Given the description of an element on the screen output the (x, y) to click on. 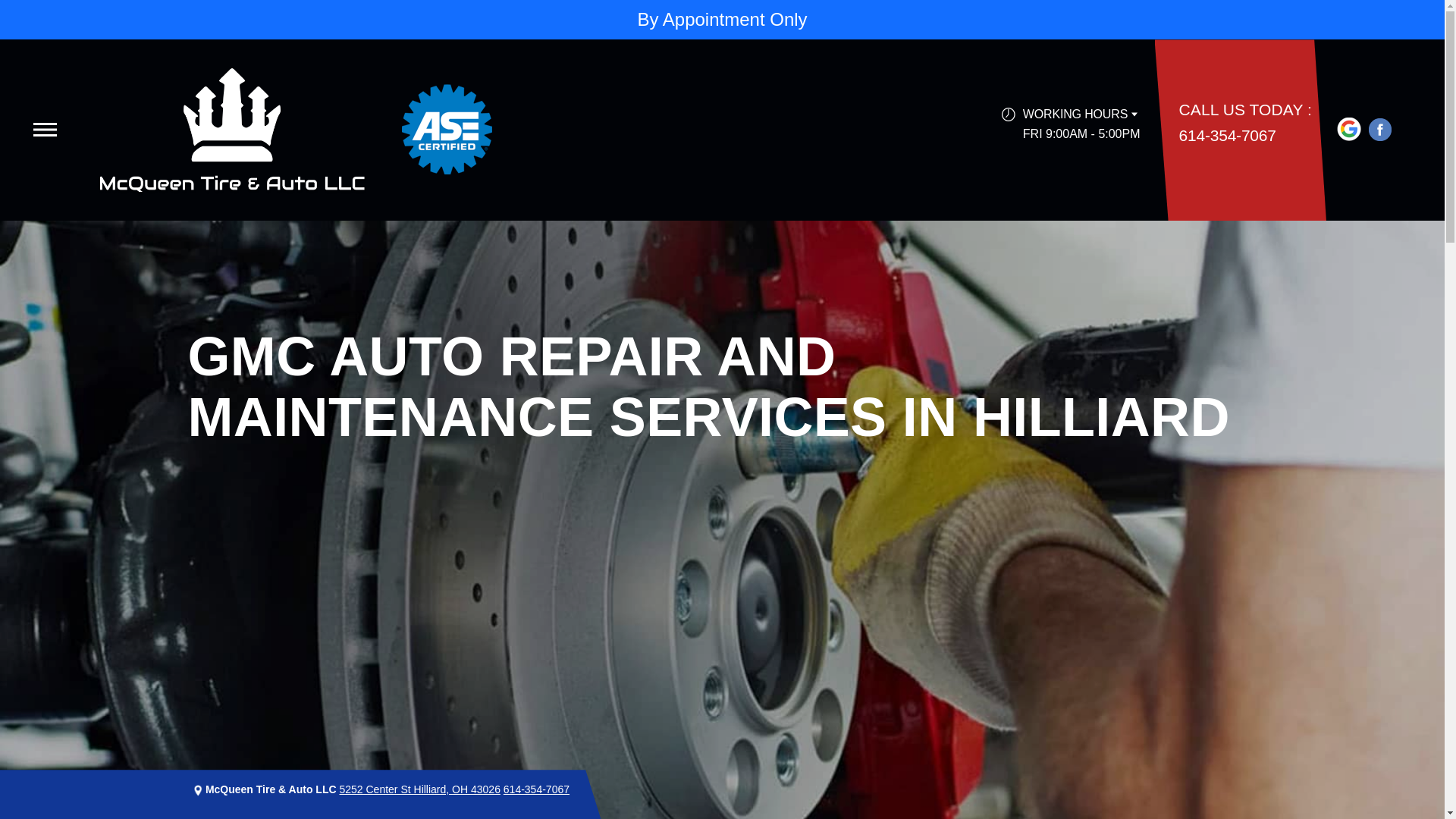
614-354-7067 (1227, 135)
614-354-7067 (536, 788)
5252 Center St Hilliard, OH 43026 (419, 788)
open-navigation-button (44, 129)
